Given the description of an element on the screen output the (x, y) to click on. 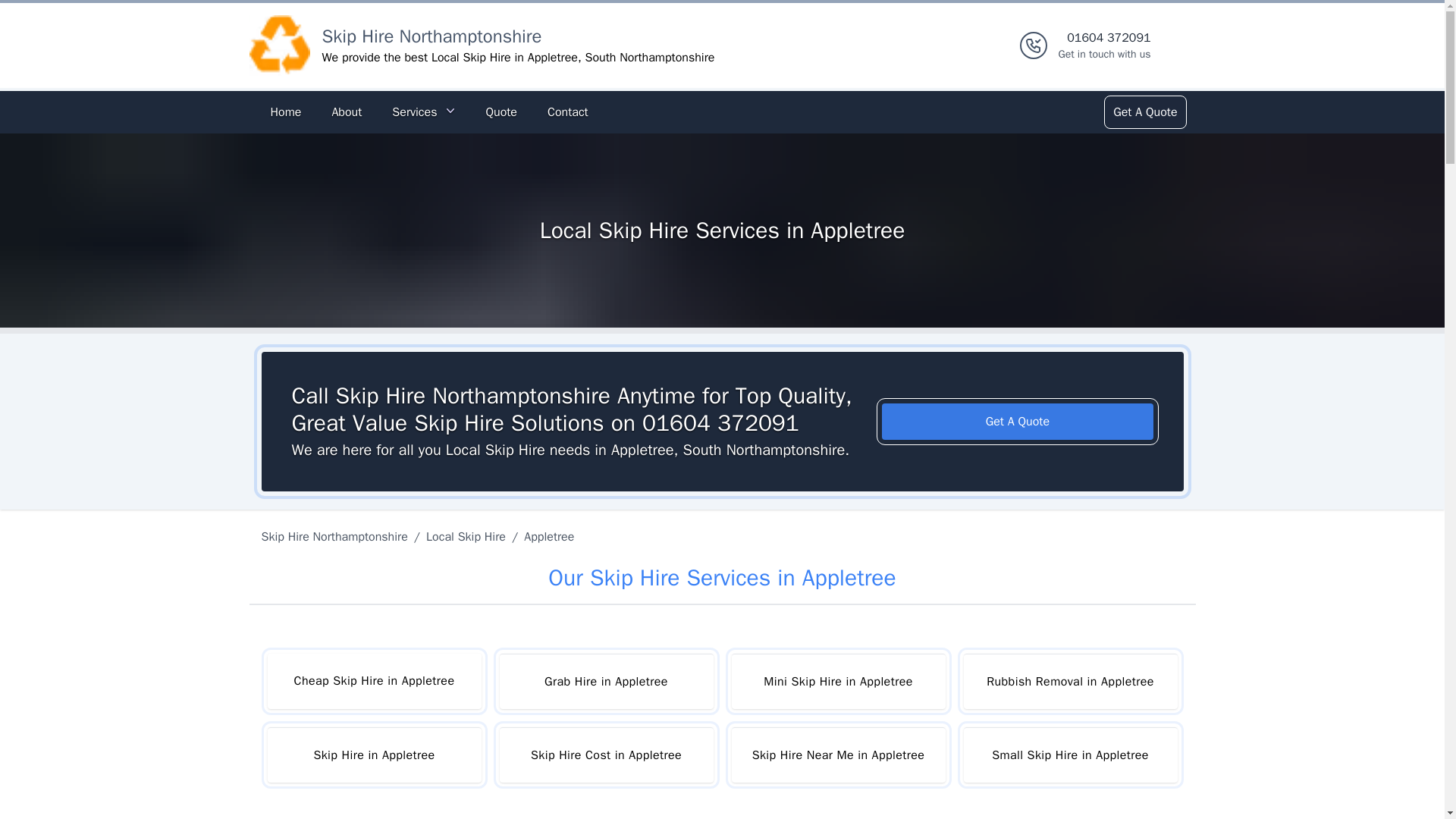
Grab Hire in Appletree (606, 681)
Cheap Skip Hire in Appletree (373, 681)
Rubbish Removal in Appletree (1069, 681)
Quote (500, 112)
About (346, 112)
Home (1104, 45)
Skip Hire Cost in Appletree (285, 112)
Get A Quote (606, 754)
Services (1144, 112)
Get A Quote (423, 112)
Skip Hire Near Me in Appletree (1017, 421)
Contact (837, 754)
Skip Hire Northamptonshire (567, 112)
Local Skip Hire (336, 536)
